Given the description of an element on the screen output the (x, y) to click on. 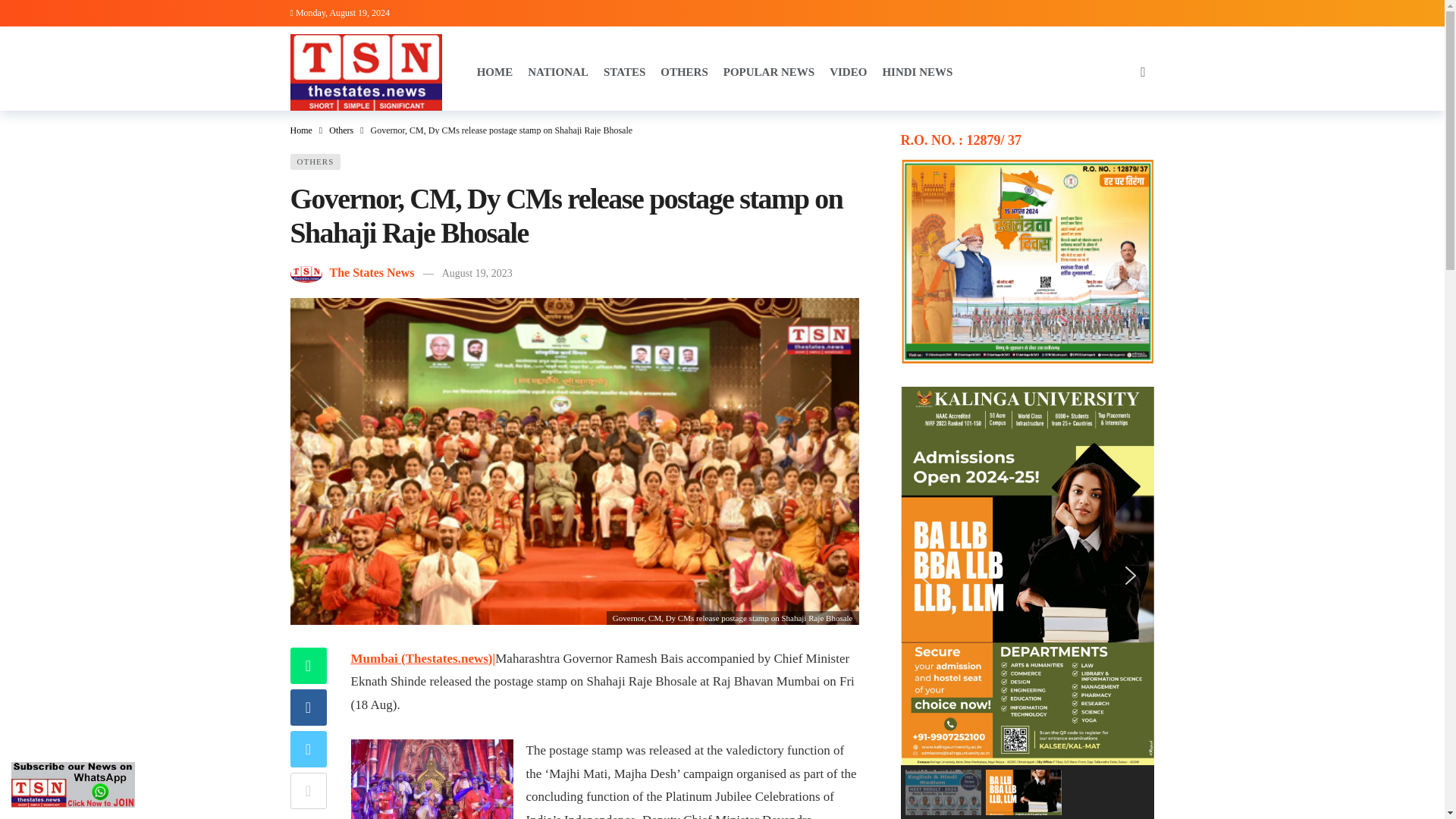
OTHERS (684, 71)
HOME (495, 71)
OTHERS (314, 160)
VIDEO (847, 71)
POPULAR NEWS (768, 71)
Home (300, 130)
HINDI NEWS (917, 71)
NATIONAL (557, 71)
STATES (624, 71)
The States News (371, 272)
